Given the description of an element on the screen output the (x, y) to click on. 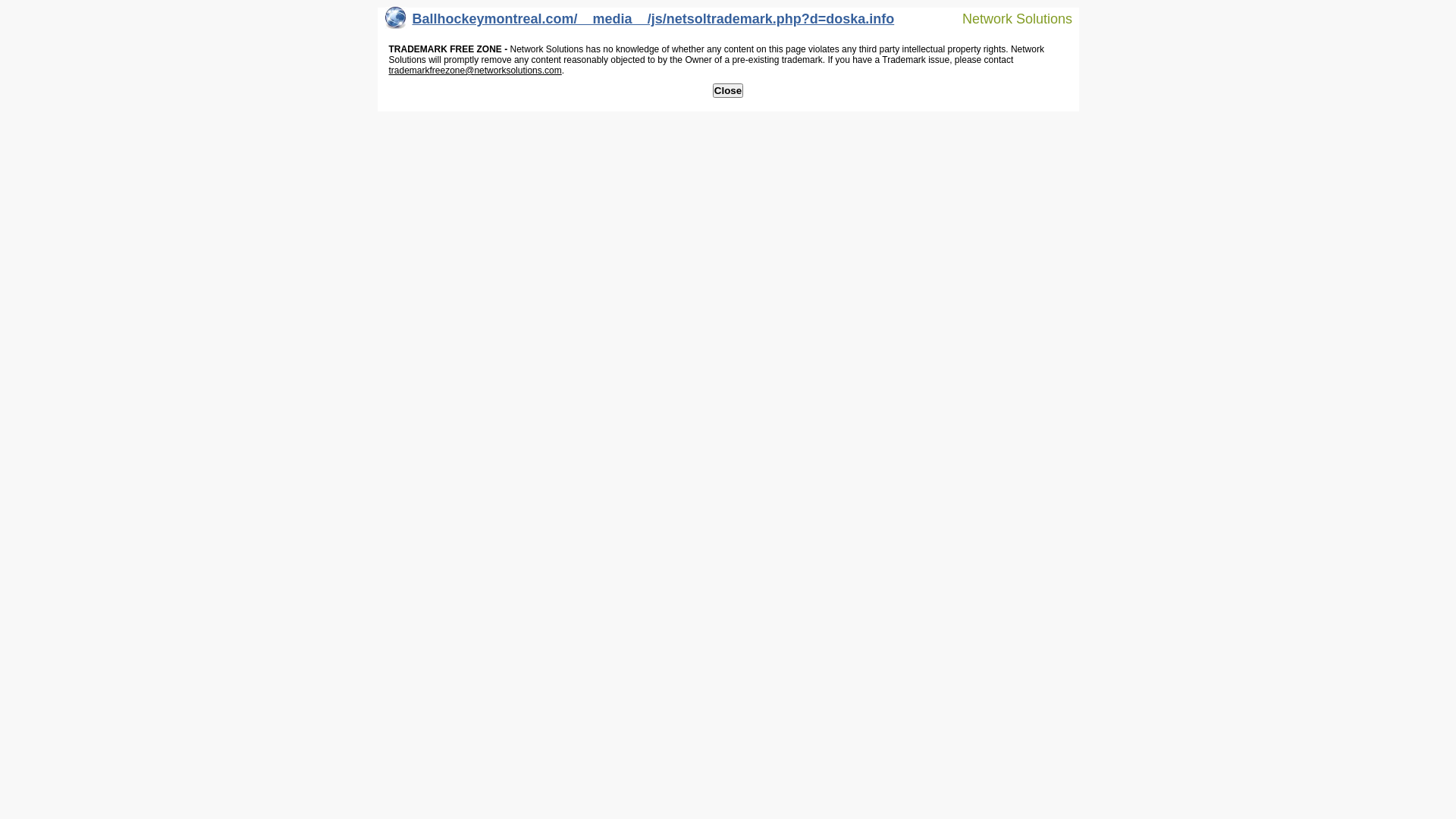
Close Element type: text (727, 90)
Network Solutions Element type: text (1007, 17)
trademarkfreezone@networksolutions.com Element type: text (474, 70)
